Given the description of an element on the screen output the (x, y) to click on. 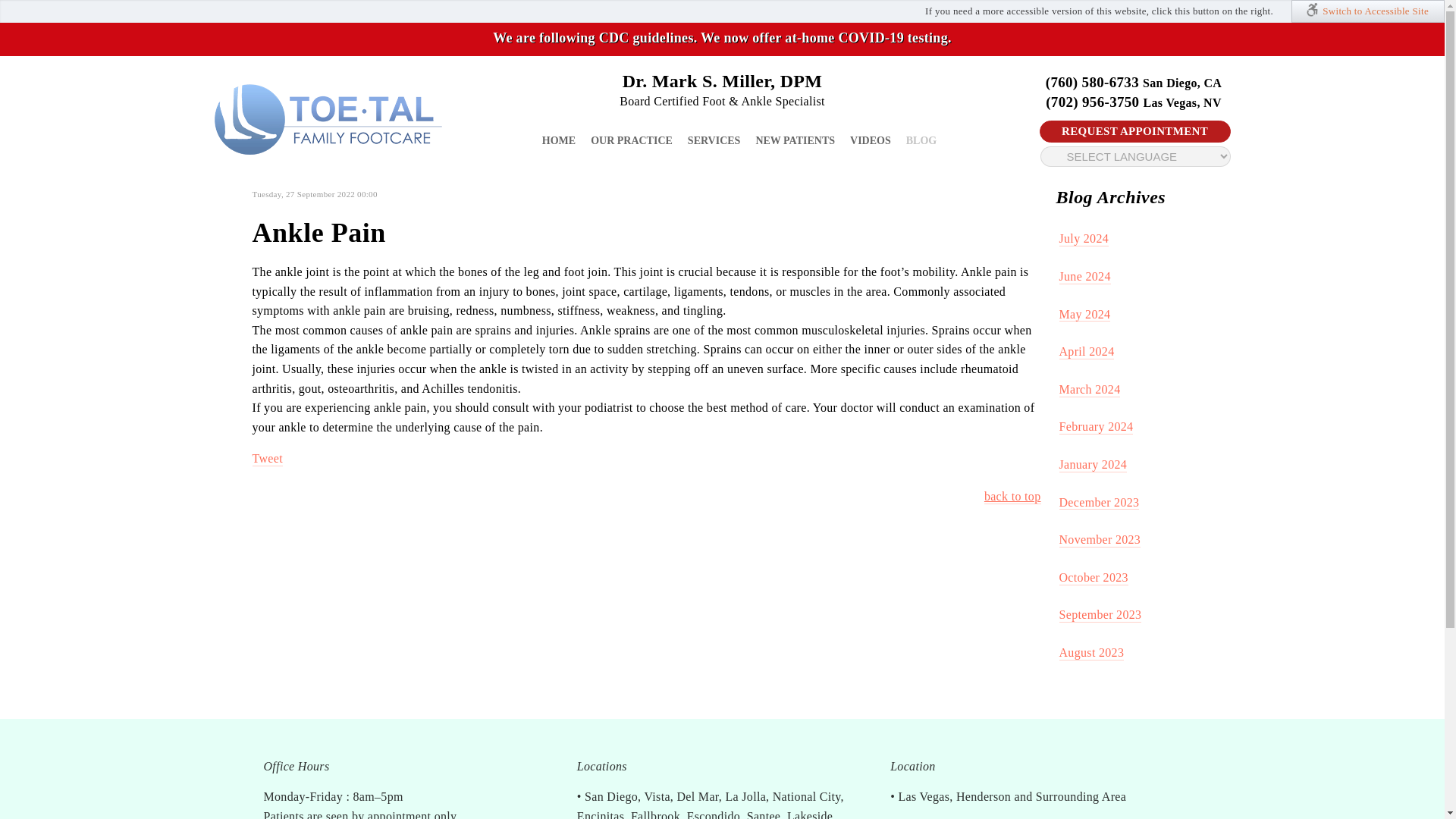
May 2024 (1083, 314)
October 2023 (1092, 577)
Mobile Podiatry Services in Vista CA 92081 (558, 140)
December 2023 (1098, 503)
BLOG (920, 140)
REQUEST APPOINTMENT (1134, 131)
In-Home Podiatrists (327, 119)
HOME (558, 140)
OUR PRACTICE (631, 140)
back to top (1012, 496)
September 2023 (1099, 615)
July 2024 (1083, 238)
November 2023 (1099, 540)
In-house foot care services (631, 140)
March 2024 (1088, 390)
